Given the description of an element on the screen output the (x, y) to click on. 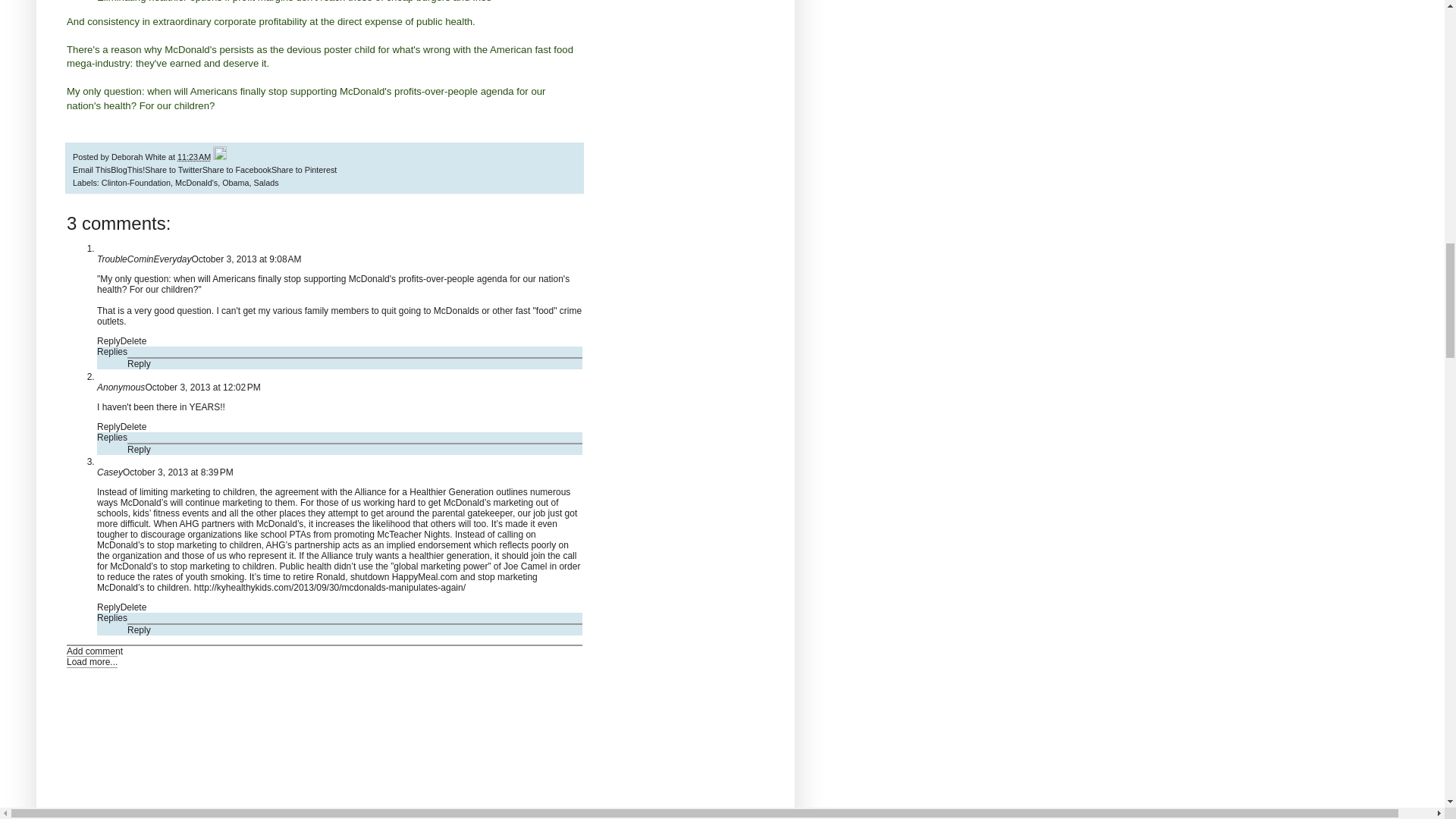
Reply (108, 426)
Obama (235, 182)
Share to Pinterest (303, 169)
Reply (139, 449)
Share to Facebook (236, 169)
Email This (91, 169)
Share to Facebook (236, 169)
McDonald's (195, 182)
Edit Post (219, 156)
Email This (91, 169)
Delete (133, 426)
permanent link (194, 156)
Share to Twitter (173, 169)
Reply (139, 363)
Clinton-Foundation (135, 182)
